Given the description of an element on the screen output the (x, y) to click on. 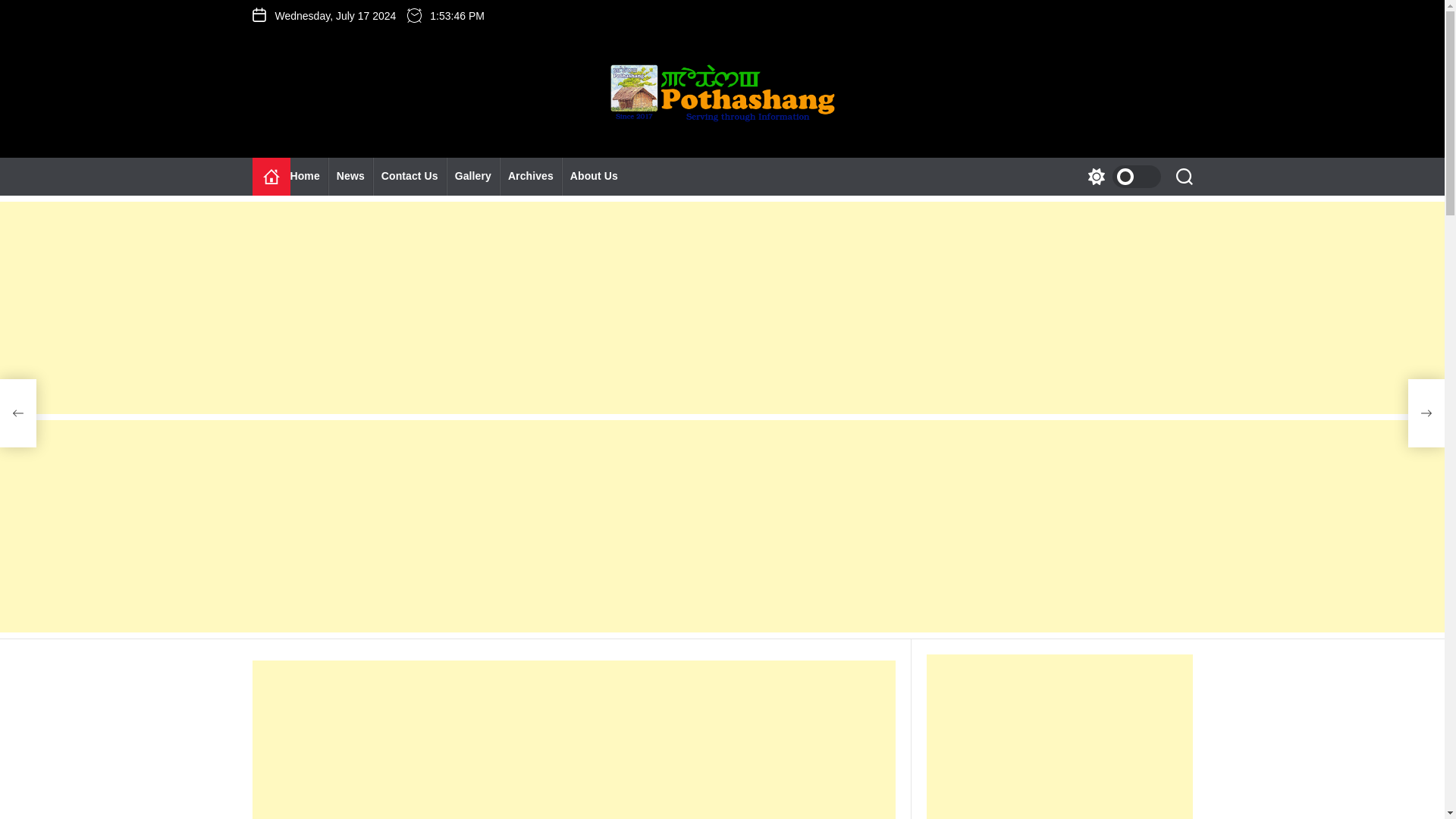
News (350, 176)
About Us (594, 176)
Gallery (472, 176)
Search (1183, 176)
Contact Us (409, 176)
Home (308, 176)
Switch color mode (1120, 176)
Home (270, 176)
Advertisement (573, 739)
Archives (530, 176)
